Given the description of an element on the screen output the (x, y) to click on. 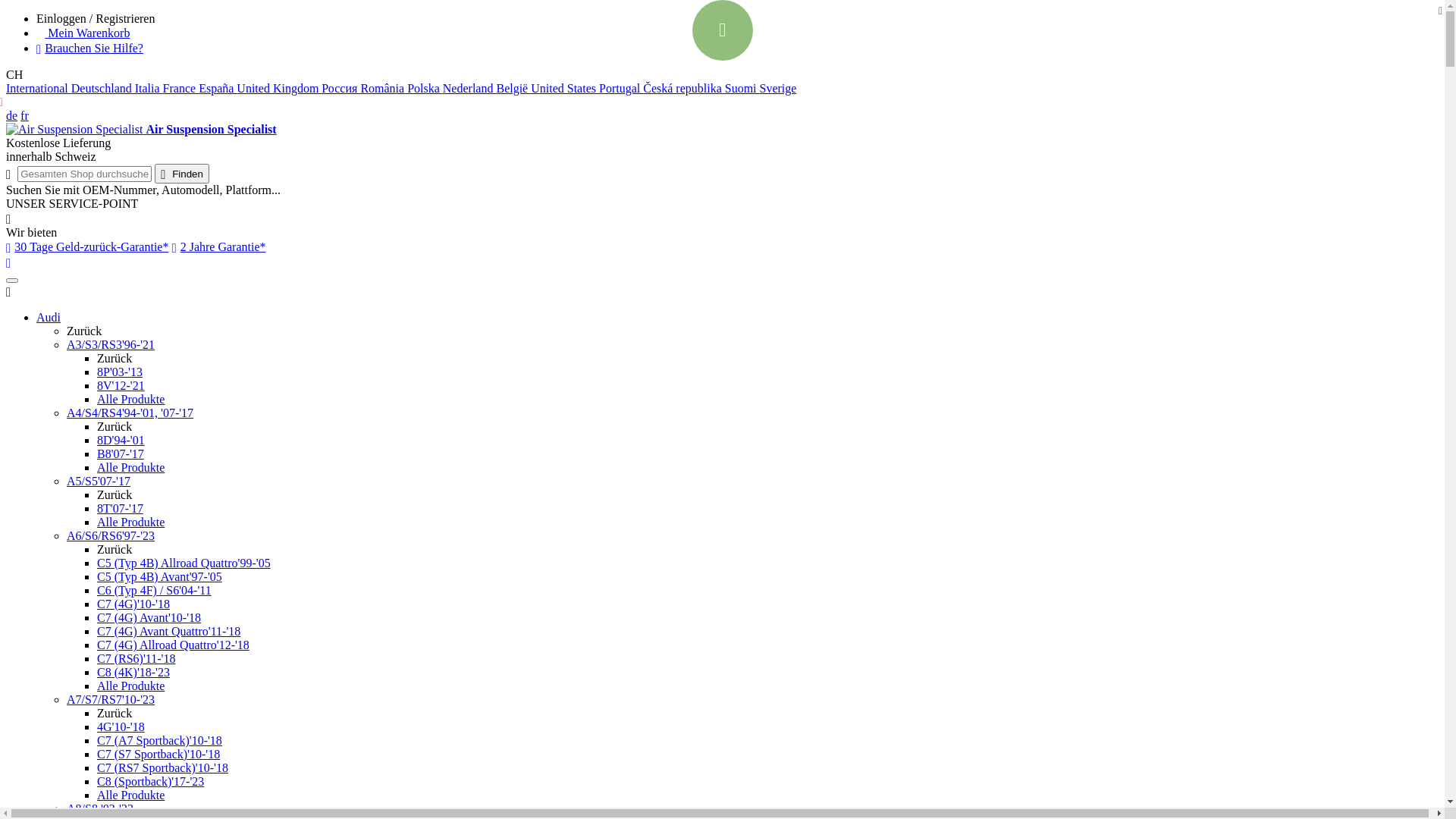
Italia Element type: text (148, 87)
C7 (S7 Sportback)'10-'18 Element type: text (158, 753)
Air Suspension Specialist Element type: text (141, 128)
C8 (4K)'18-'23 Element type: text (133, 671)
de Element type: text (11, 115)
8D'94-'01 Element type: text (120, 439)
C8 (Sportback)'17-'23 Element type: text (150, 781)
Alle Produkte Element type: text (130, 398)
Brauchen Sie Hilfe? Element type: text (89, 47)
2 Jahre Garantie* Element type: text (218, 246)
Audi Element type: text (48, 316)
Einloggen / Registrieren Element type: text (737, 18)
Sverige Element type: text (778, 87)
United States Element type: text (564, 87)
B8'07-'17 Element type: text (120, 453)
C7 (4G) Avant Quattro'11-'18 Element type: text (168, 630)
Mein Warenkorb Element type: text (82, 32)
A5/S5'07-'17 Element type: text (98, 480)
C7 (4G) Allroad Quattro'12-'18 Element type: text (173, 644)
Polska Element type: text (424, 87)
Alle Produkte Element type: text (130, 521)
Air Suspension Specialist Element type: hover (74, 129)
Deutschland Element type: text (102, 87)
A7/S7/RS7'10-'23 Element type: text (110, 699)
Finden Element type: text (181, 173)
Nederland Element type: text (469, 87)
Alle Produkte Element type: text (130, 685)
C6 (Typ 4F) / S6'04-'11 Element type: text (154, 589)
Suomi Element type: text (741, 87)
A3/S3/RS3'96-'21 Element type: text (110, 344)
C7 (4G)'10-'18 Element type: text (133, 603)
C7 (RS7 Sportback)'10-'18 Element type: text (162, 767)
C7 (A7 Sportback)'10-'18 Element type: text (159, 740)
8V'12-'21 Element type: text (120, 385)
A4/S4/RS4'94-'01, '07-'17 Element type: text (129, 412)
C5 (Typ 4B) Allroad Quattro'99-'05 Element type: text (183, 562)
A8/S8 '02-'23 Element type: text (99, 808)
Portugal Element type: text (621, 87)
8T'07-'17 Element type: text (120, 508)
4G'10-'18 Element type: text (120, 726)
Alle Produkte Element type: text (130, 467)
France Element type: text (181, 87)
United Kingdom Element type: text (278, 87)
fr Element type: text (24, 115)
International Element type: text (38, 87)
C5 (Typ 4B) Avant'97-'05 Element type: text (159, 576)
A6/S6/RS6'97-'23 Element type: text (110, 535)
8P'03-'13 Element type: text (119, 371)
C7 (4G) Avant'10-'18 Element type: text (148, 617)
C7 (RS6)'11-'18 Element type: text (136, 658)
Alle Produkte Element type: text (130, 794)
